Given the description of an element on the screen output the (x, y) to click on. 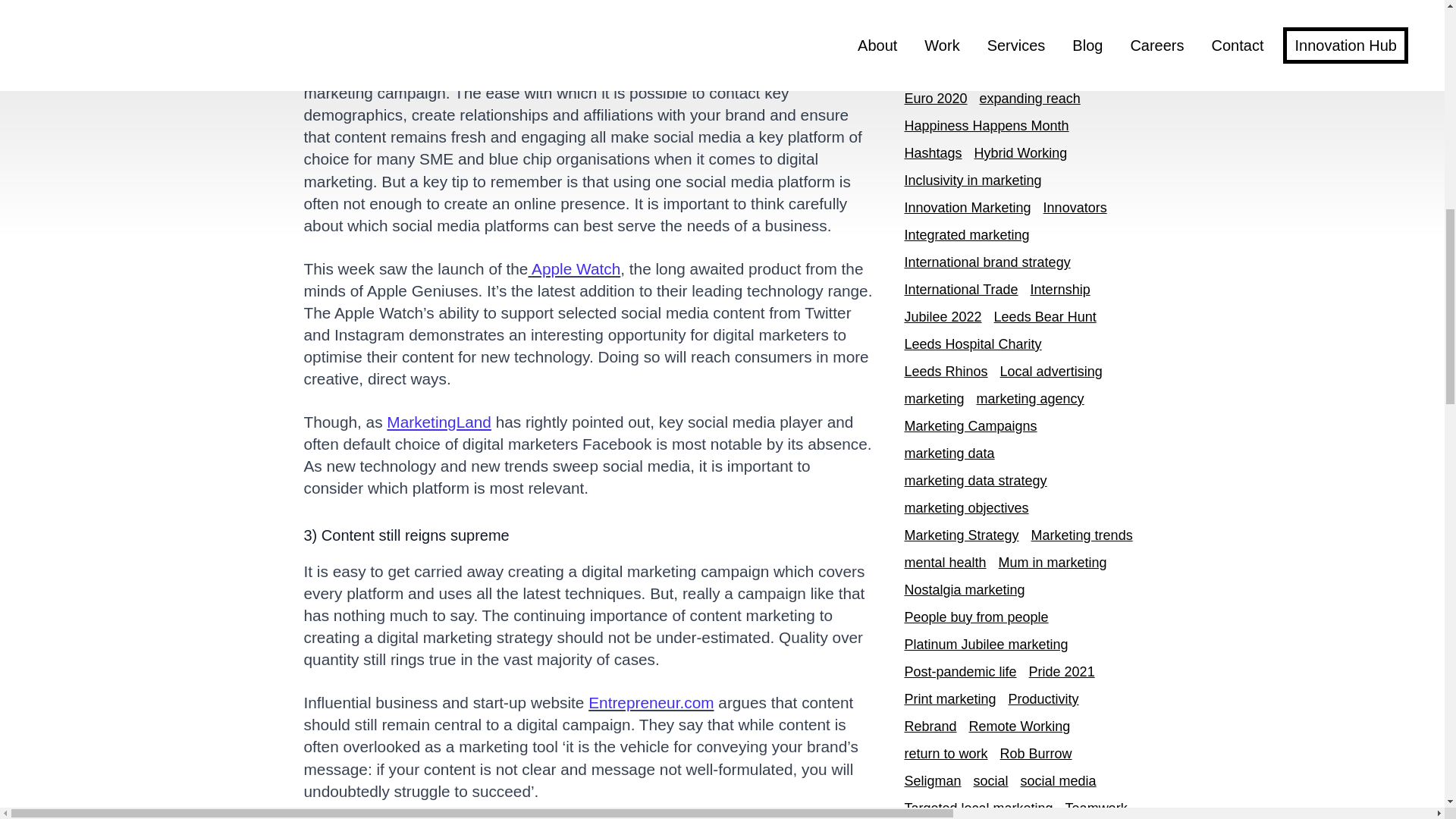
Apple Watch (575, 268)
Entrepreneur.com (650, 702)
MarketingLand (439, 421)
